Given the description of an element on the screen output the (x, y) to click on. 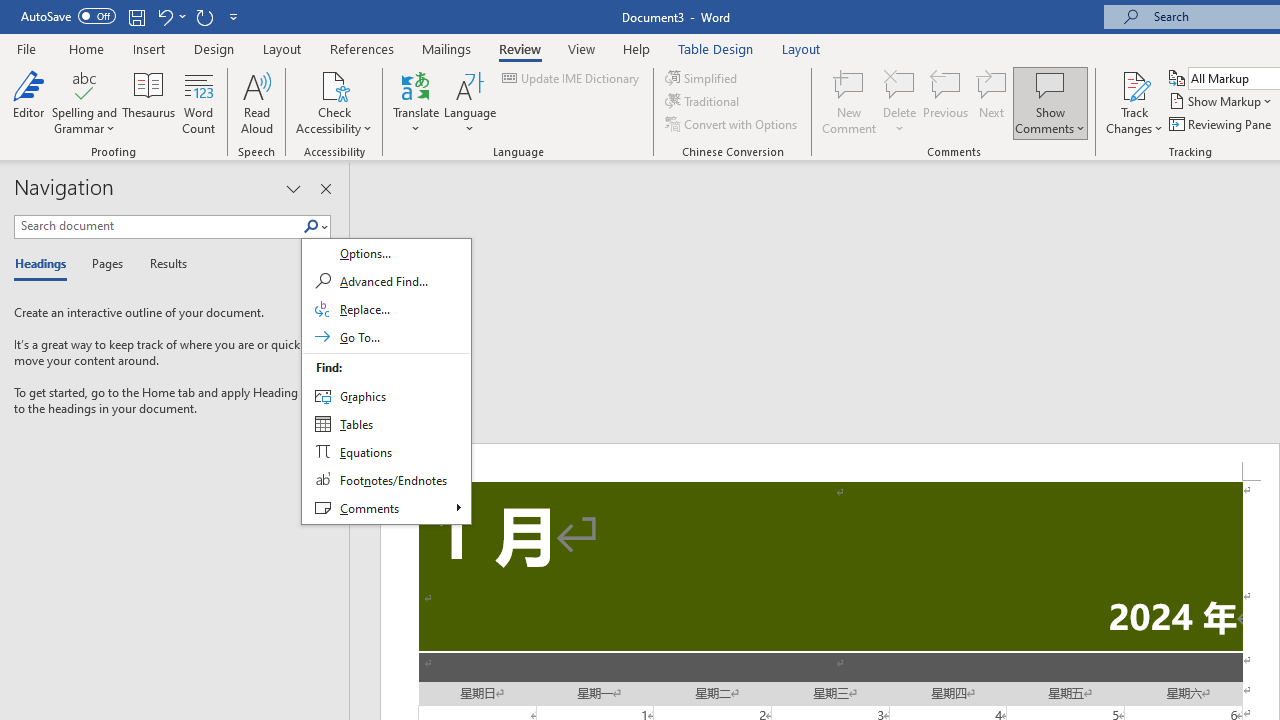
Previous (946, 102)
Track Changes (1134, 84)
